Given the description of an element on the screen output the (x, y) to click on. 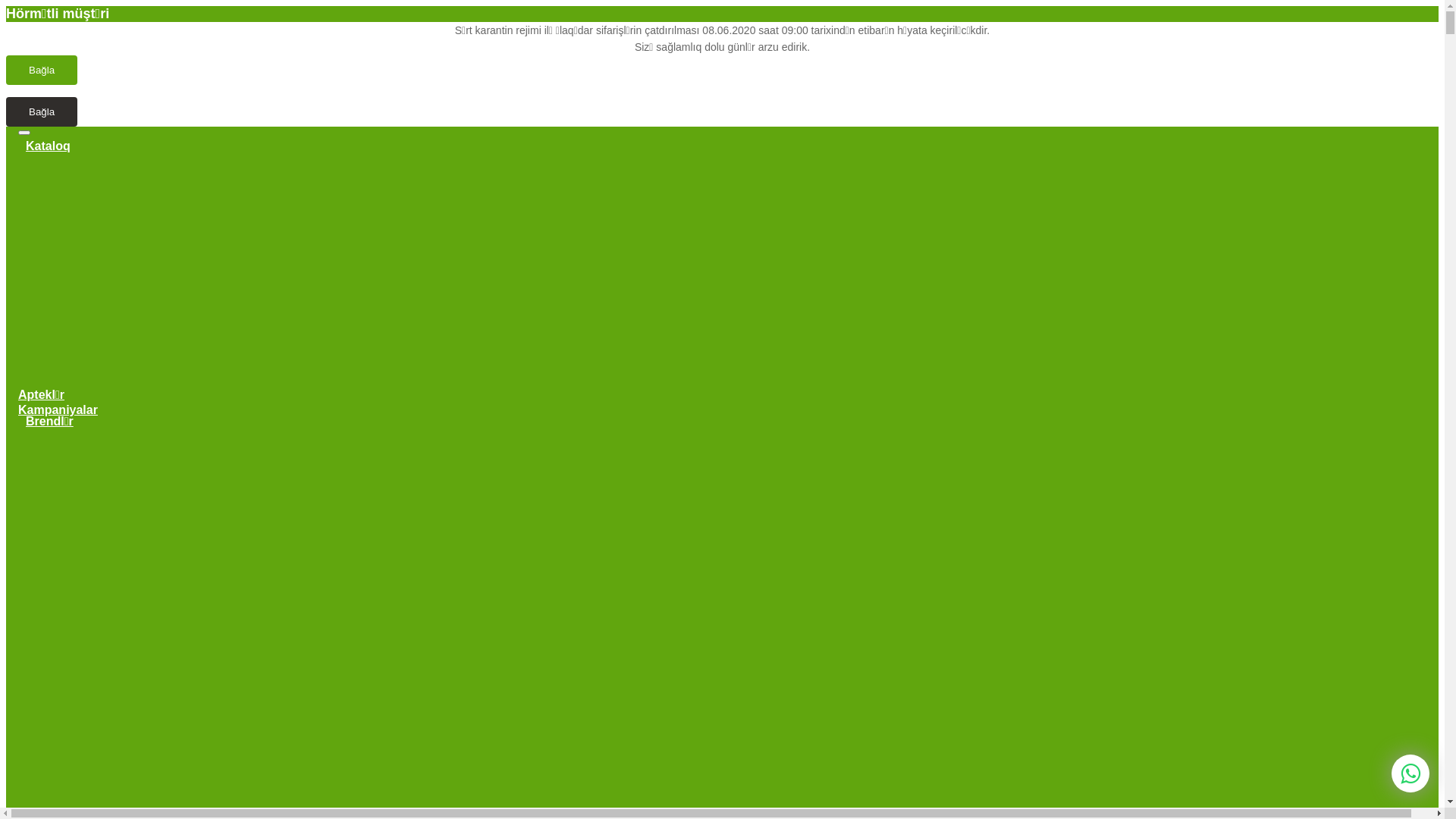
Kampaniyalar Element type: text (57, 409)
Kataloq Element type: text (48, 145)
